Given the description of an element on the screen output the (x, y) to click on. 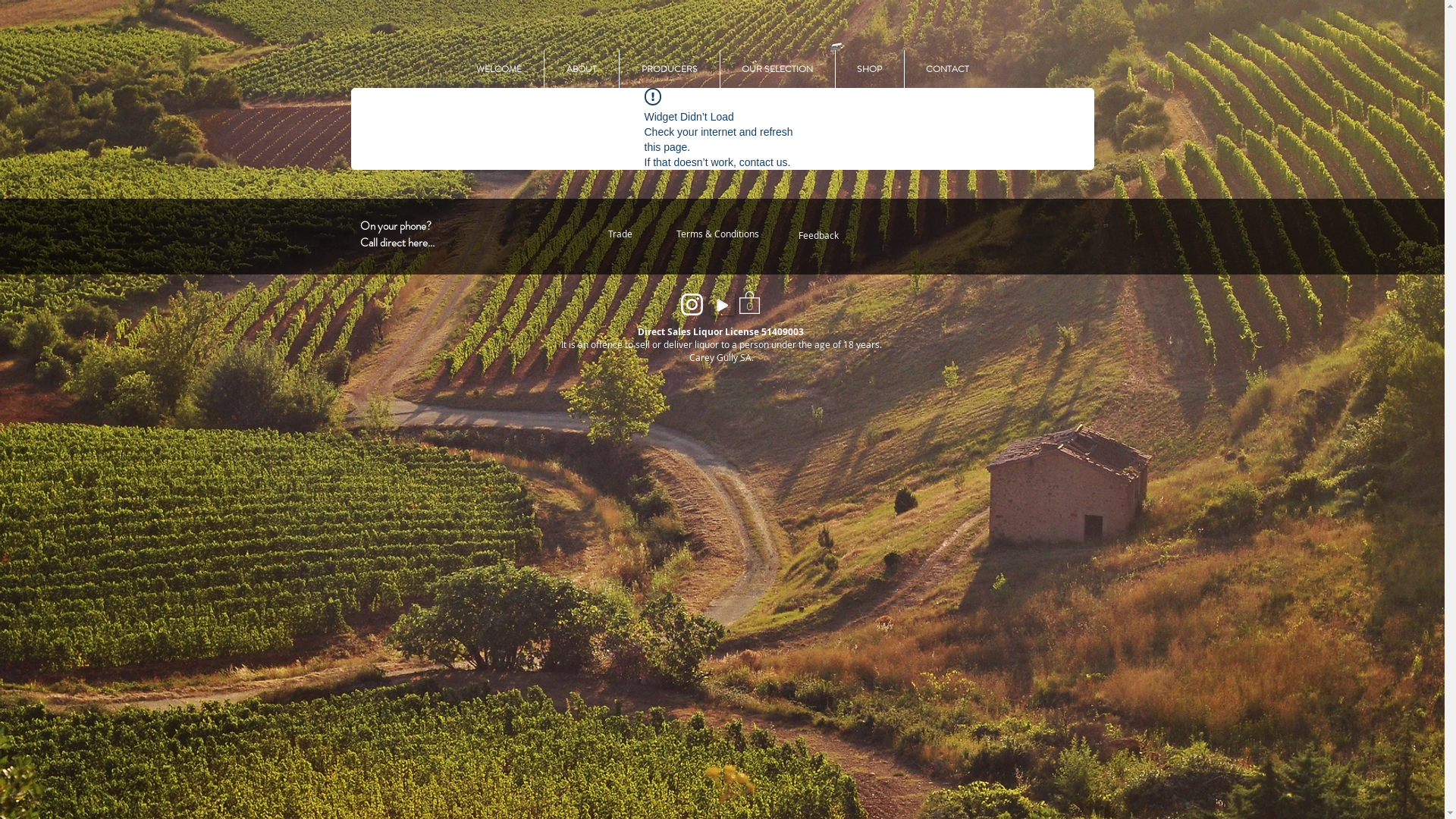
0 Element type: text (748, 301)
TWIPLA (Visitor Analytics) Element type: hover (1442, 4)
Feedback Element type: text (817, 235)
Terms & Conditions Element type: text (716, 234)
Trade Element type: text (619, 234)
OUR SELECTION Element type: text (777, 68)
WELCOME Element type: text (497, 68)
PRODUCERS Element type: text (668, 68)
On your phone? Element type: text (394, 225)
CONTACT Element type: text (946, 68)
Call direct here... Element type: text (396, 242)
SHOP Element type: text (869, 68)
ABOUT Element type: text (581, 68)
